Given the description of an element on the screen output the (x, y) to click on. 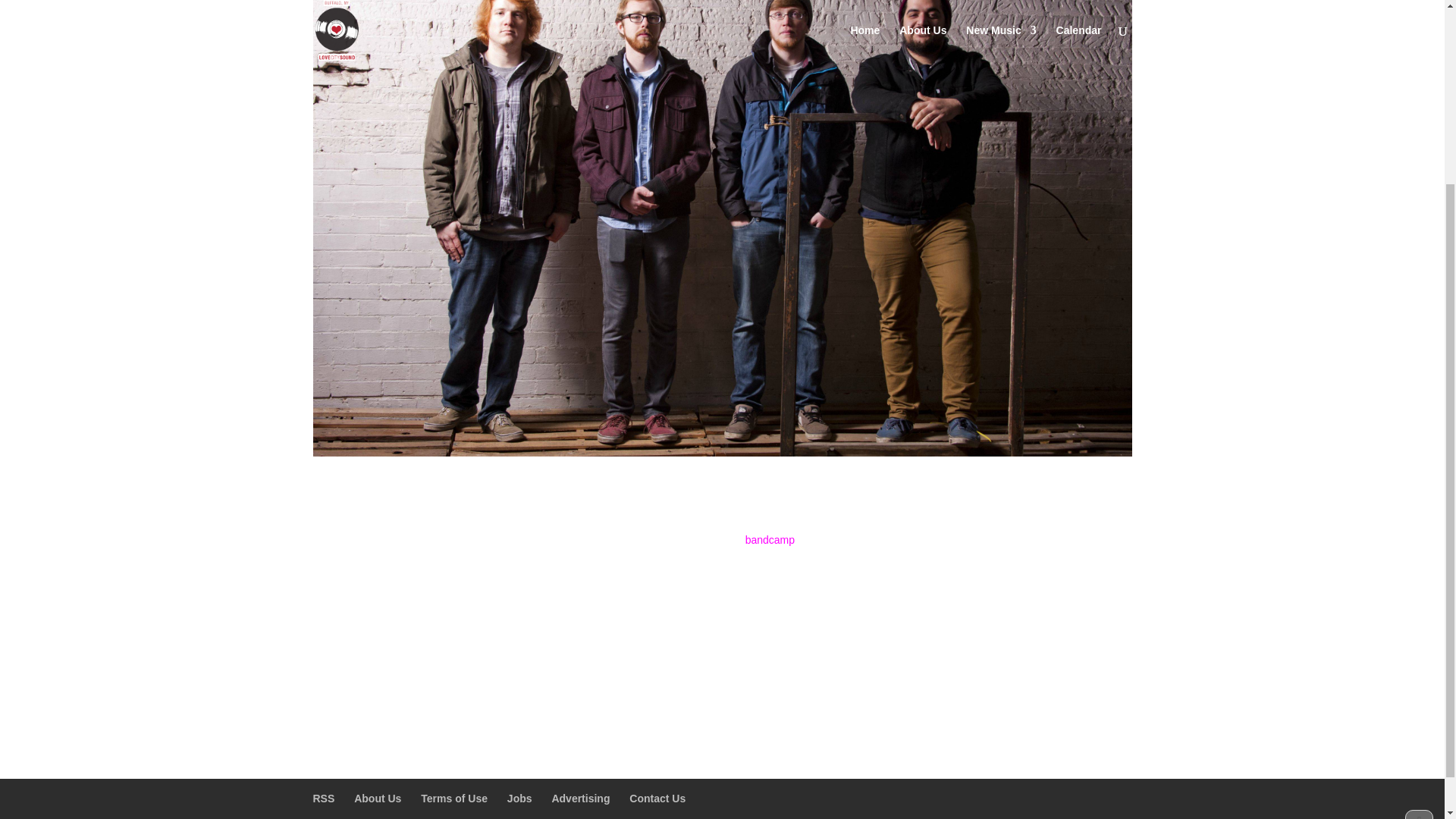
Terms of Use (453, 798)
Jobs (519, 798)
Advertising (580, 798)
RSS (323, 798)
About Us (377, 798)
Contact Us (656, 798)
bandcamp (769, 539)
